Given the description of an element on the screen output the (x, y) to click on. 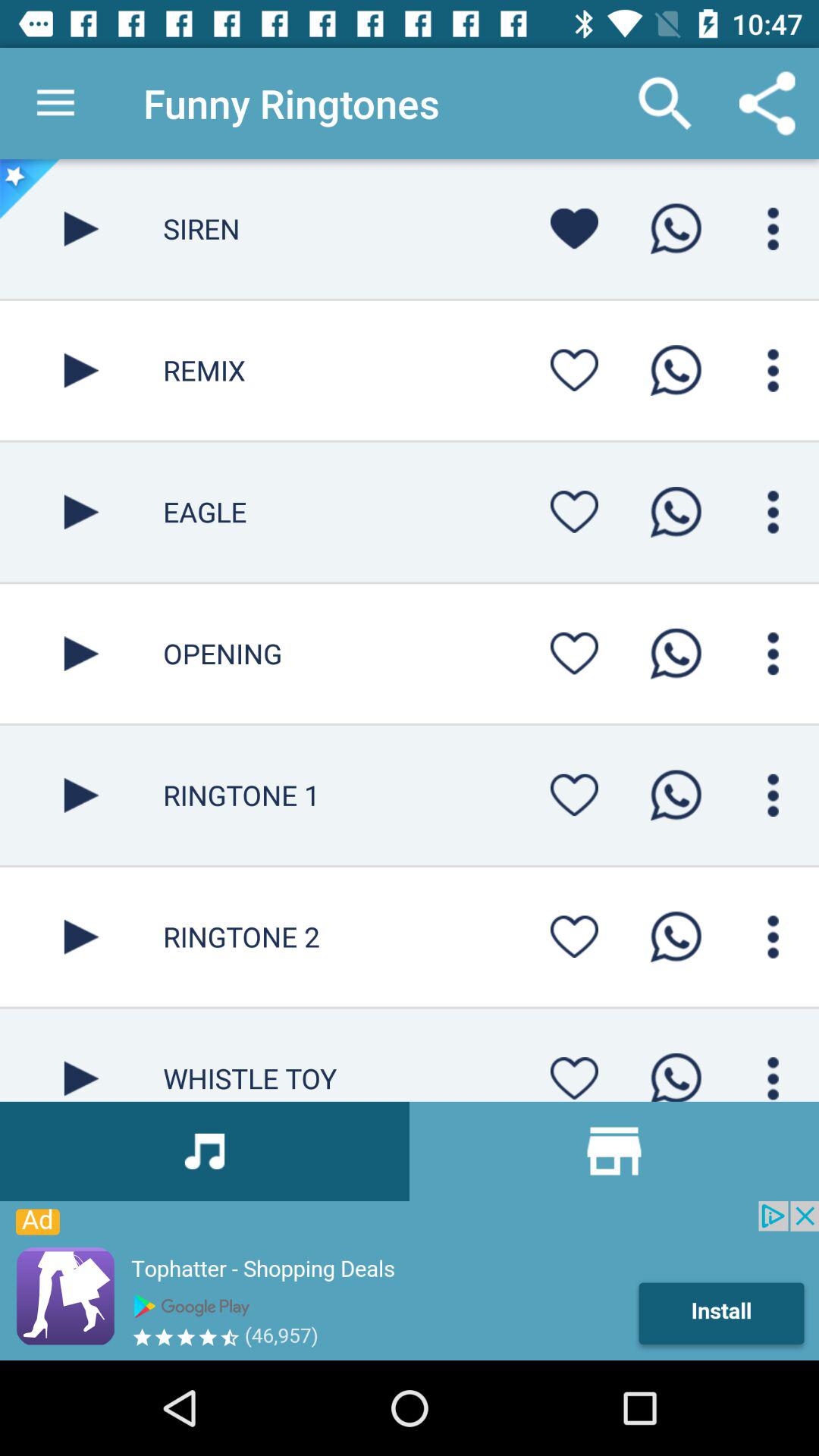
call (675, 653)
